Given the description of an element on the screen output the (x, y) to click on. 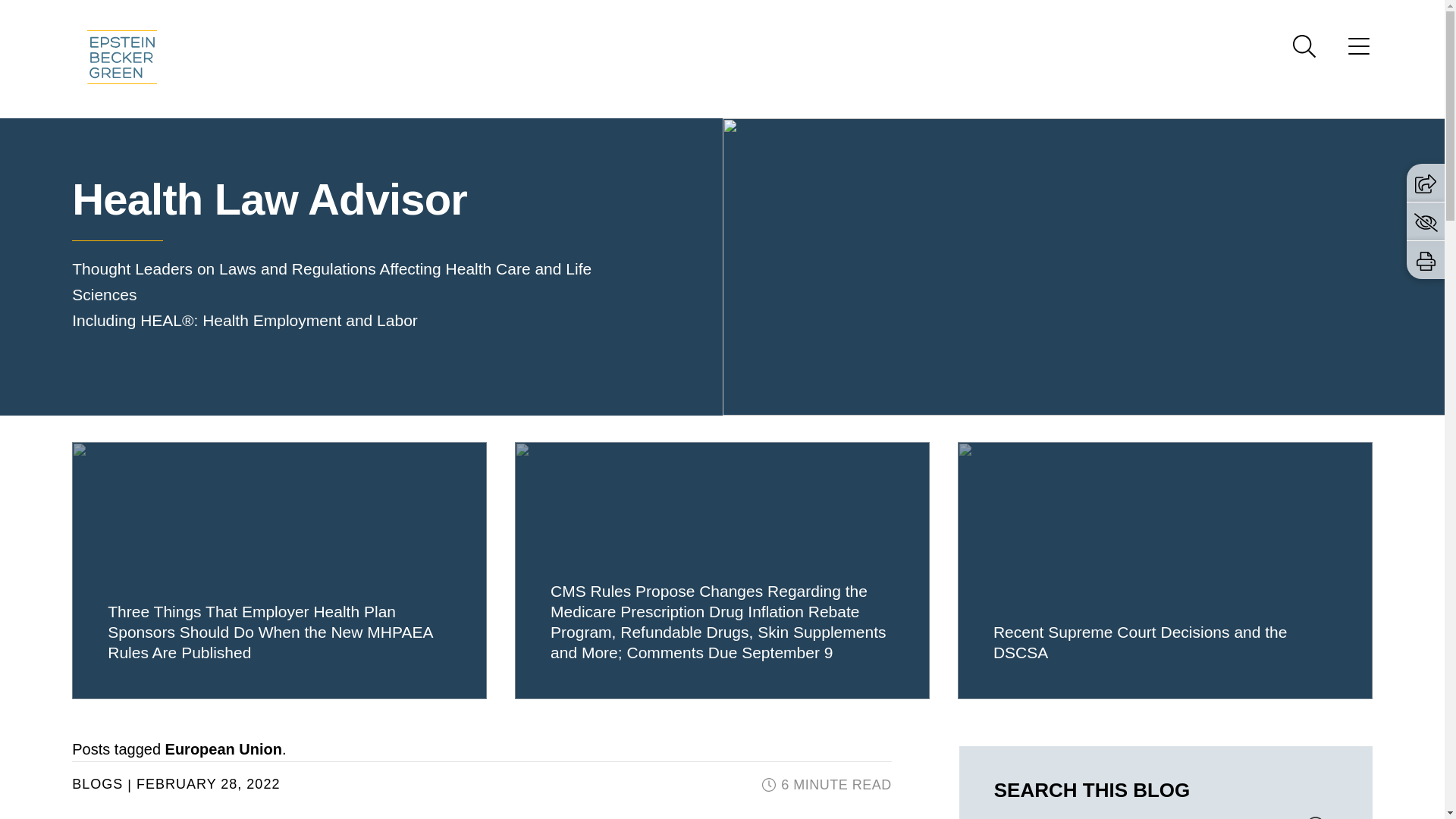
CLOCK (768, 784)
Search (1304, 46)
Main Content (666, 15)
Recent Supreme Court Decisions and the DSCSA (1165, 570)
Main Menu (673, 15)
Share (1425, 182)
Menu (673, 15)
Menu (1359, 51)
